Given the description of an element on the screen output the (x, y) to click on. 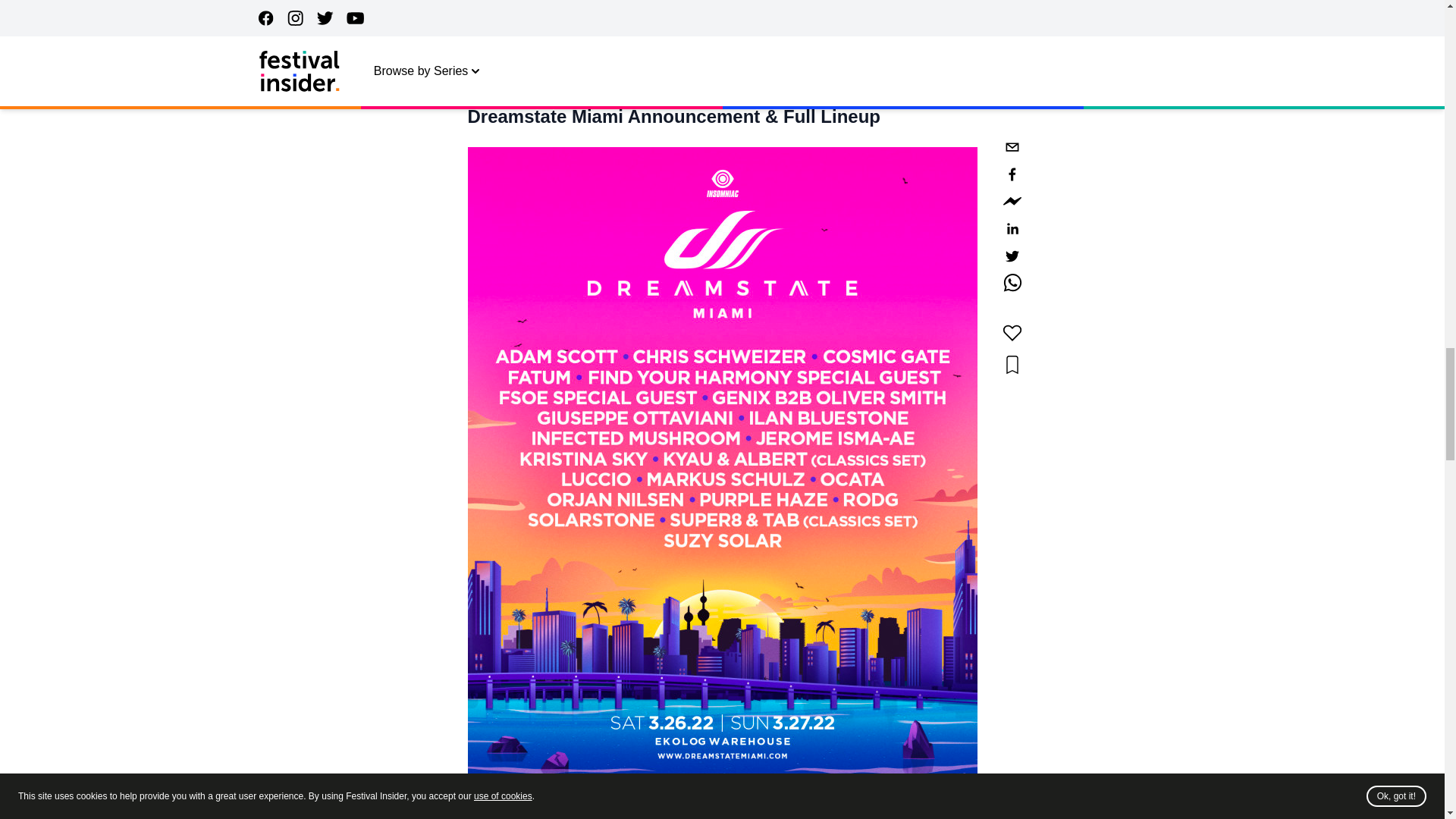
Instagram (666, 56)
Twitter (720, 56)
YouTube (772, 56)
Firefly Music Festival (561, 56)
Presale (487, 20)
